Given the description of an element on the screen output the (x, y) to click on. 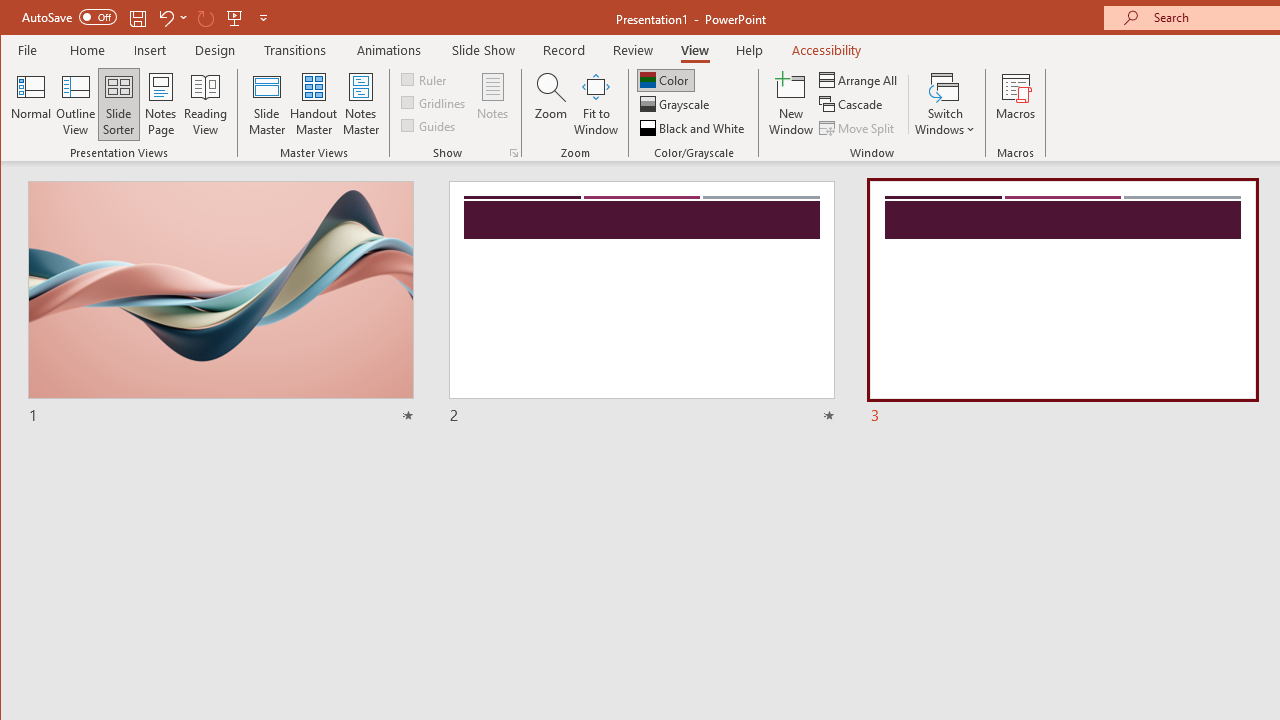
Macros (1016, 104)
Notes (493, 104)
Switch Windows (944, 104)
Guides (430, 124)
